Given the description of an element on the screen output the (x, y) to click on. 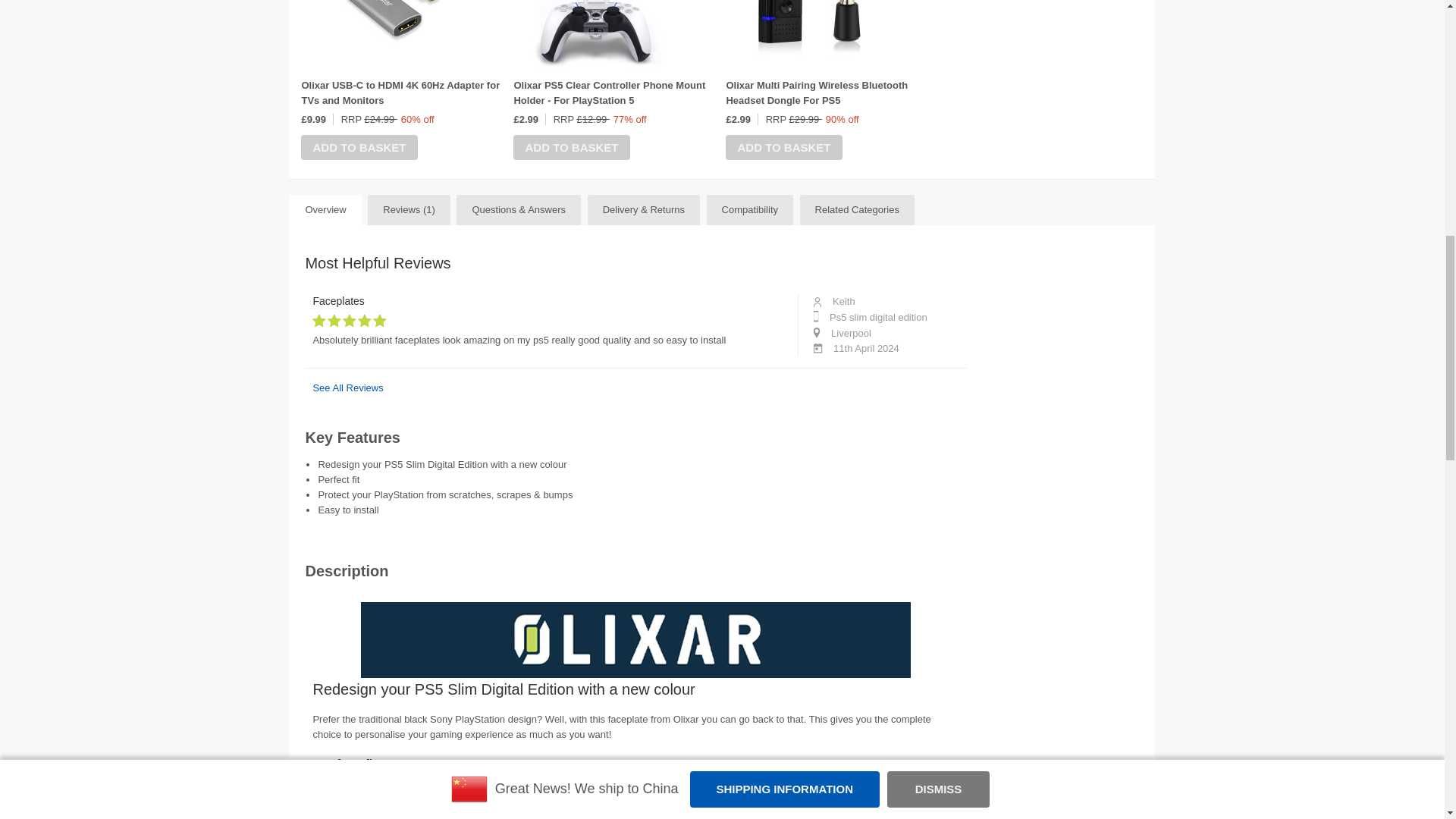
Olixar USB-C to HDMI 4K 60Hz Adapter for TVs and Monitors (384, 35)
Olixar USB-C to HDMI 4K 60Hz Adapter for TVs and Monitors (400, 92)
